Given the description of an element on the screen output the (x, y) to click on. 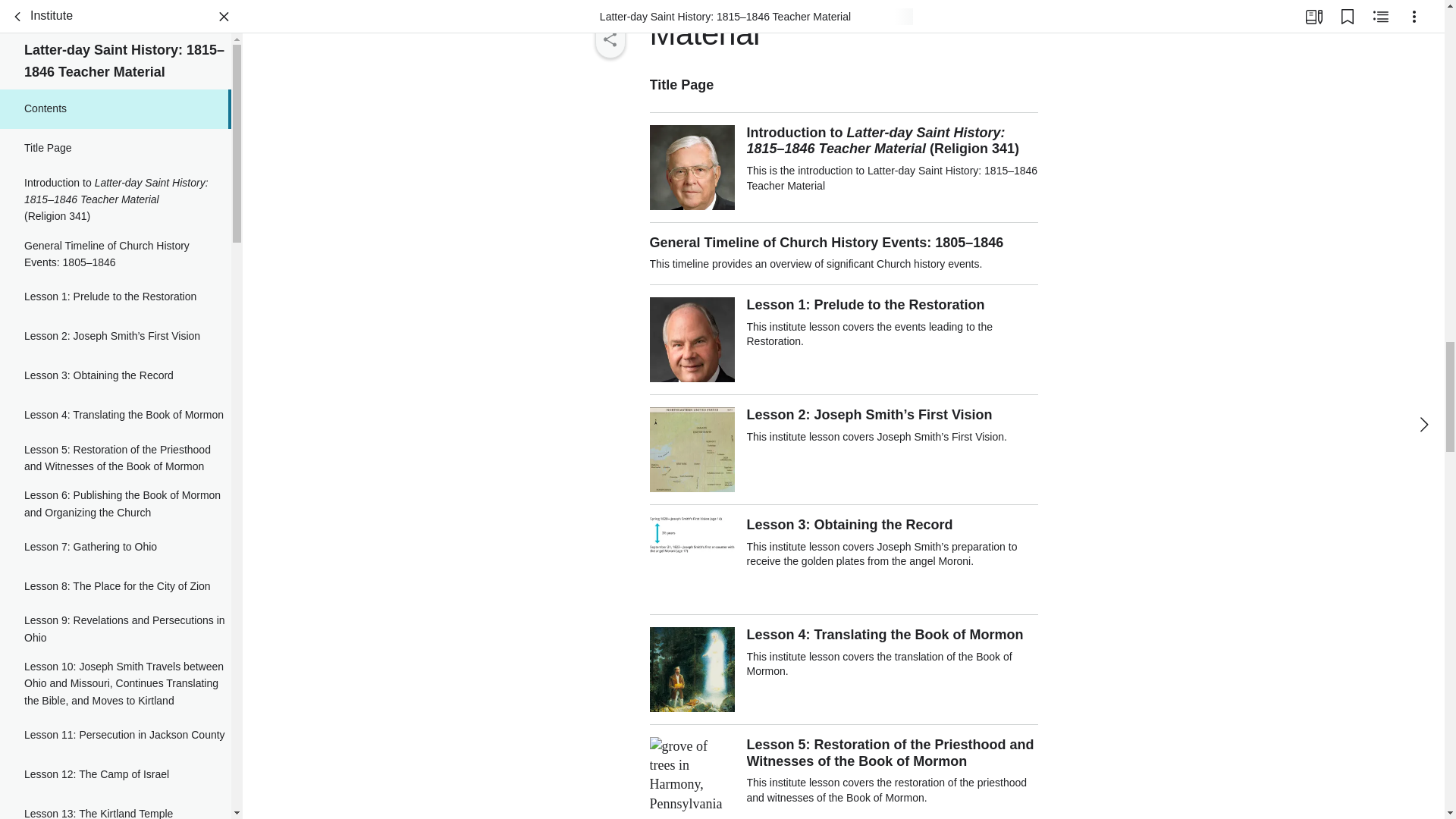
Share (608, 39)
Lesson 1: Prelude to the Restoration (115, 148)
Lesson 4: Translating the Book of Mormon (115, 267)
Lesson 7: Gathering to Ohio (115, 398)
Lesson 9: Revelations and Persecutions in Ohio (115, 480)
Lesson 12: The Camp of Israel (115, 626)
Lesson 13: The Kirtland Temple (115, 665)
Lesson 16: The Saints Gather in Northern Missouri (115, 794)
Lesson 8: The Place for the City of Zion (115, 437)
Copy (608, 15)
Title Page (115, 10)
